Given the description of an element on the screen output the (x, y) to click on. 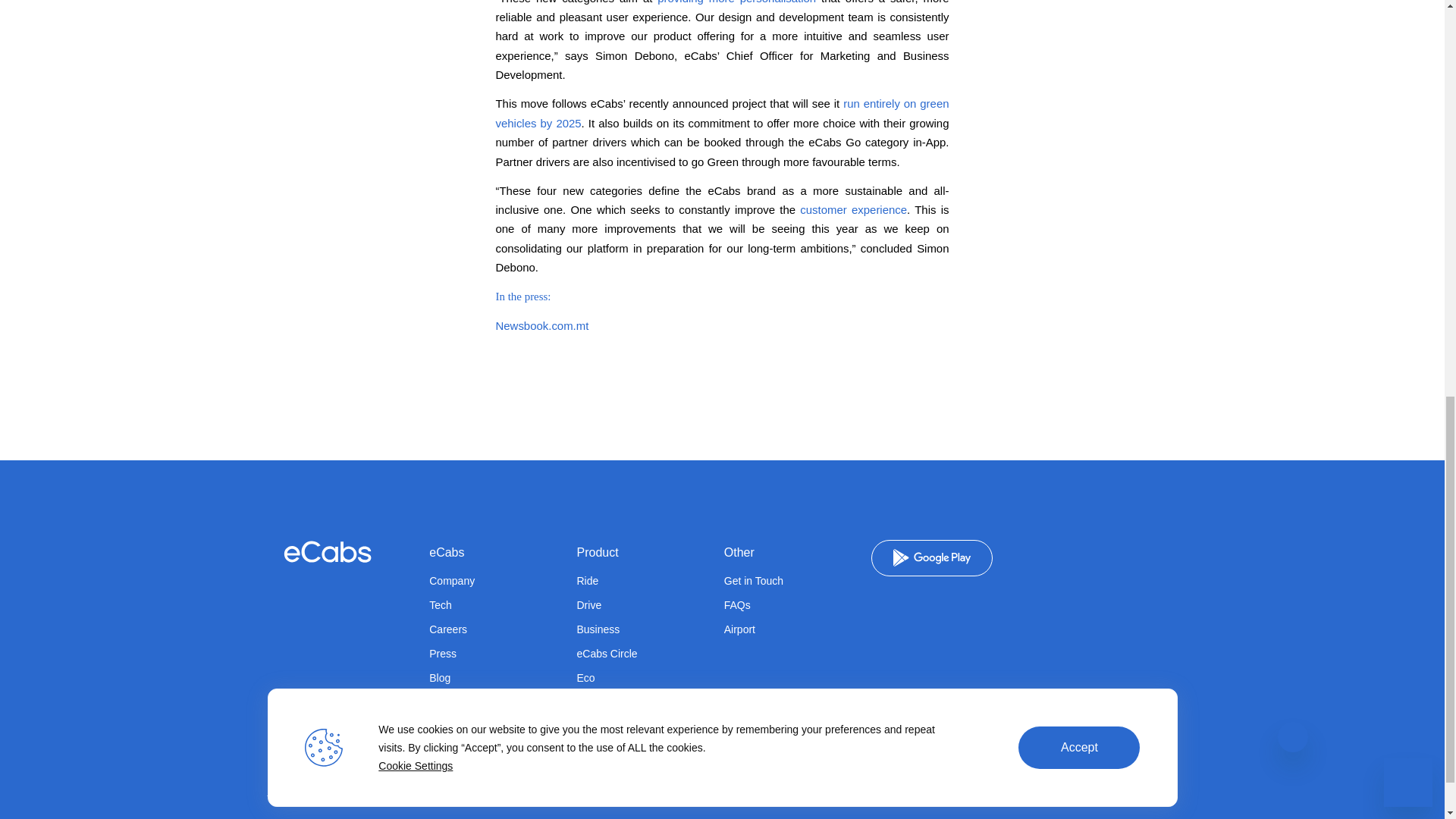
providing more personalisation (736, 2)
run entirely on green vehicles by 2025 (722, 112)
